Given the description of an element on the screen output the (x, y) to click on. 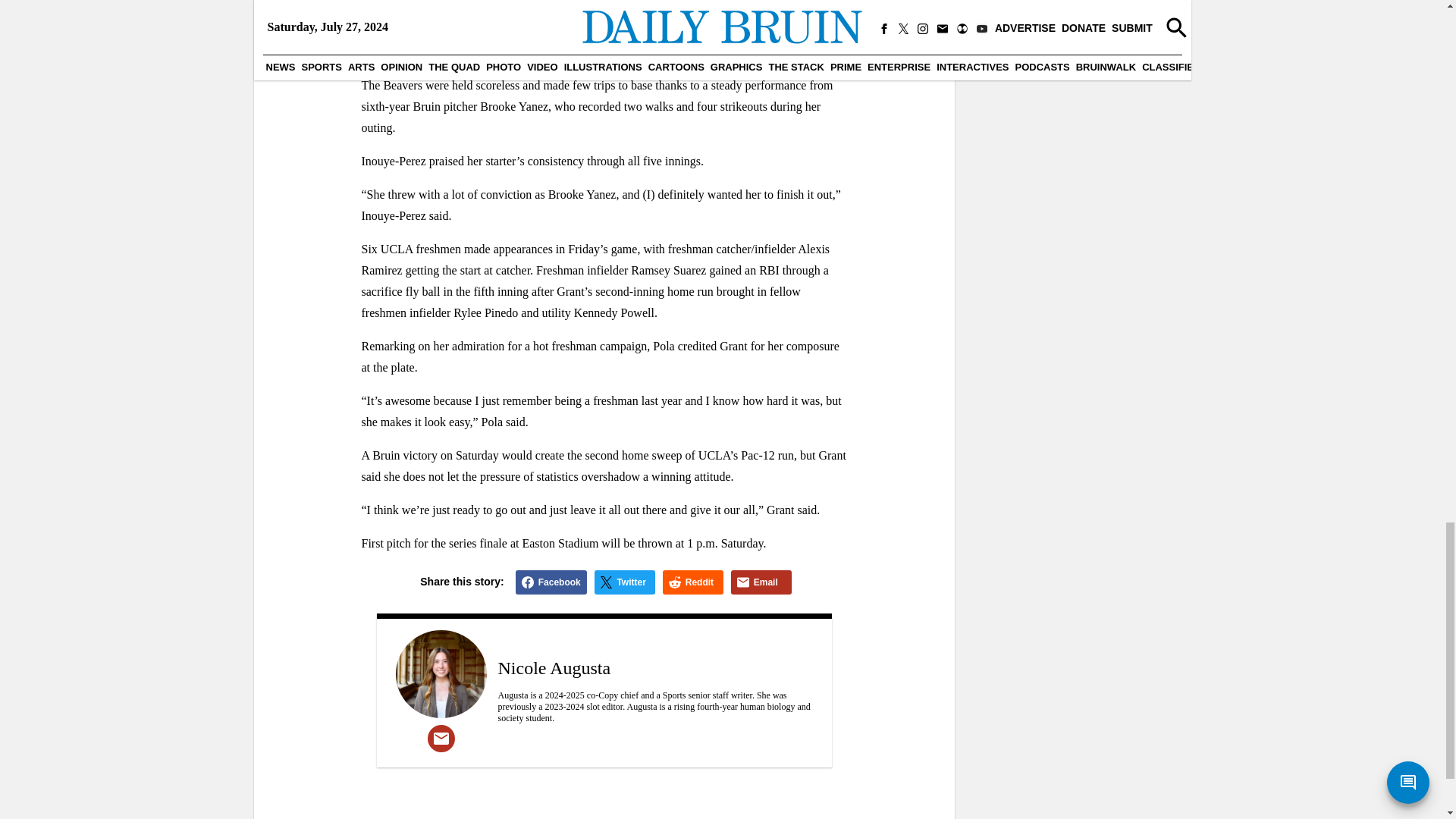
Facebook (550, 582)
Reddit (692, 582)
Email (761, 582)
Twitter (624, 582)
